Given the description of an element on the screen output the (x, y) to click on. 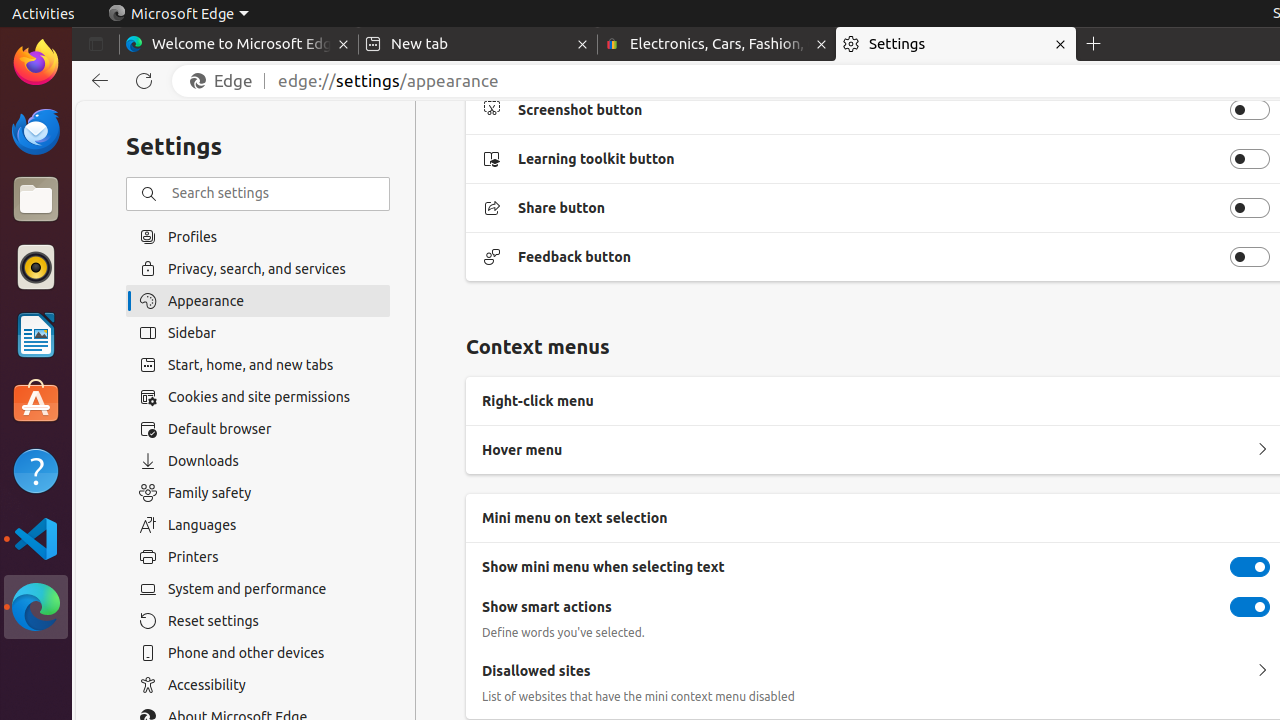
Profiles Element type: tree-item (258, 236)
Visual Studio Code Element type: push-button (36, 538)
Screenshot button Element type: check-box (1250, 110)
Printers Element type: tree-item (258, 557)
Downloads Element type: tree-item (258, 461)
